Given the description of an element on the screen output the (x, y) to click on. 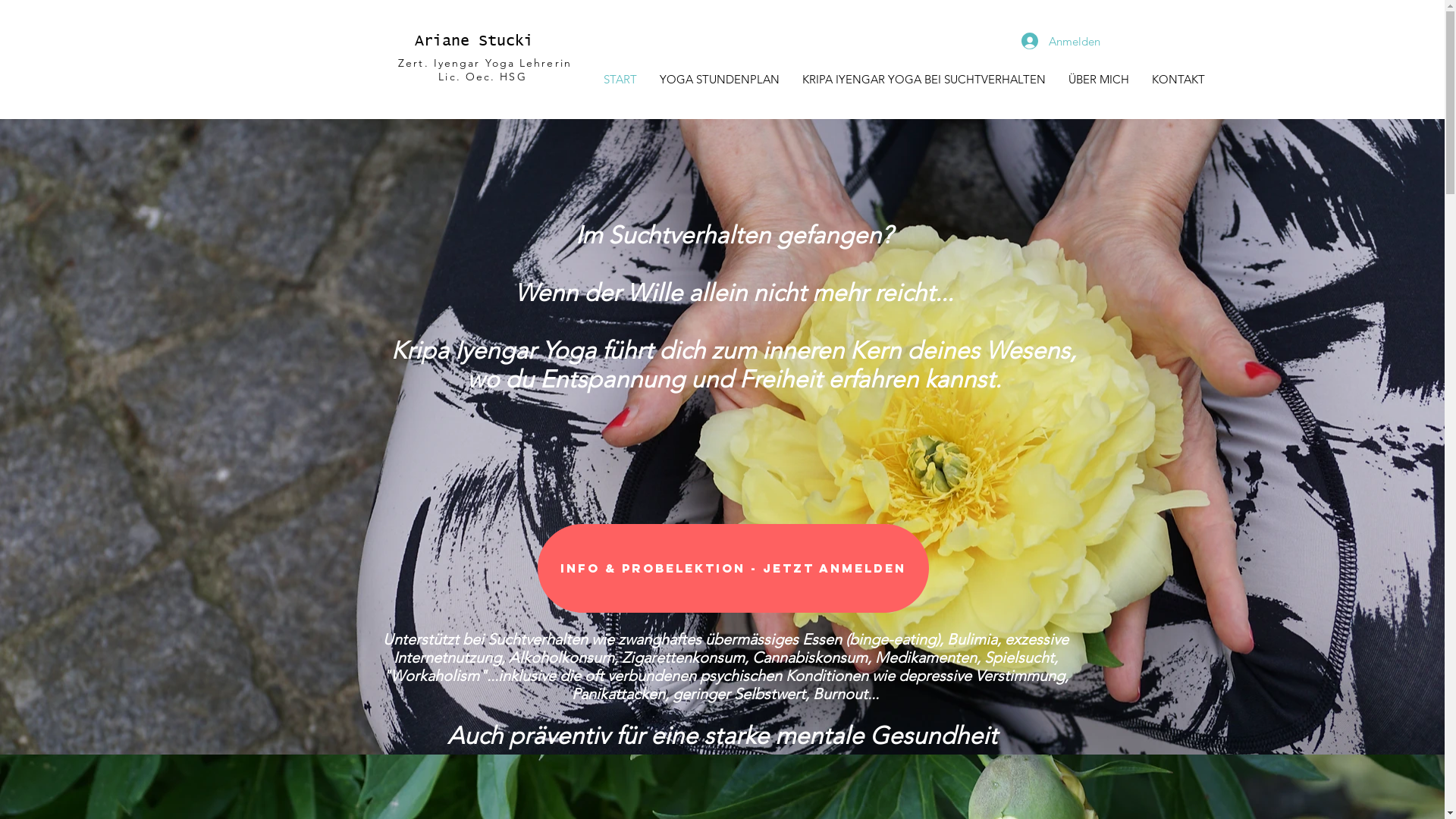
Ariane Stucki Element type: text (473, 40)
Info & Probelektion - jetzt anmelden Element type: text (732, 568)
START Element type: text (619, 78)
Anmelden Element type: text (1051, 40)
YOGA STUNDENPLAN Element type: text (718, 78)
KRIPA IYENGAR YOGA BEI SUCHTVERHALTEN Element type: text (923, 78)
KONTAKT Element type: text (1178, 78)
 Zert. Iyengar Yoga Lehrerin Element type: text (482, 62)
